Given the description of an element on the screen output the (x, y) to click on. 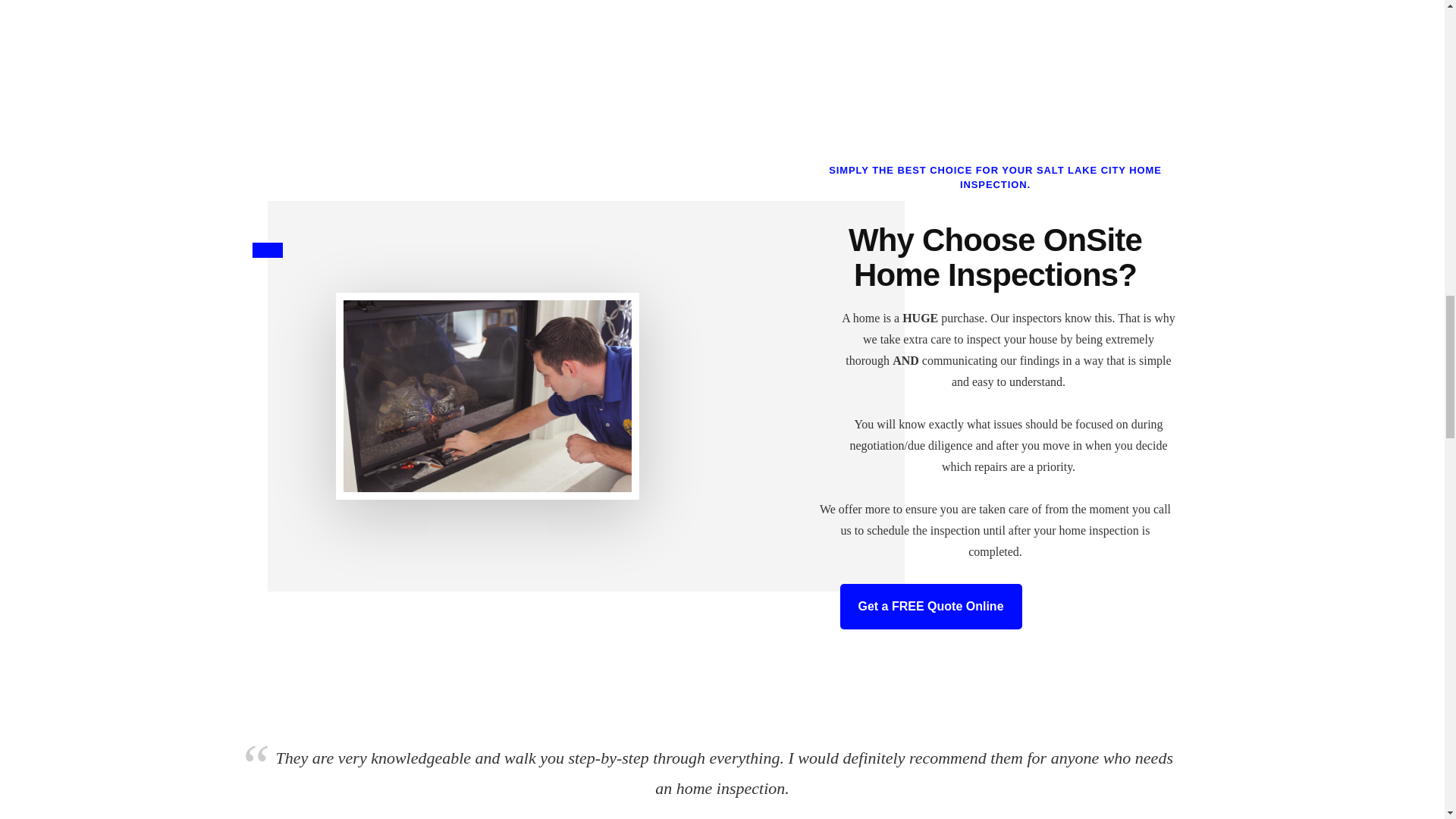
Get a FREE Quote Online (931, 606)
Why Choose OnSite Home Inspections? (994, 256)
